Given the description of an element on the screen output the (x, y) to click on. 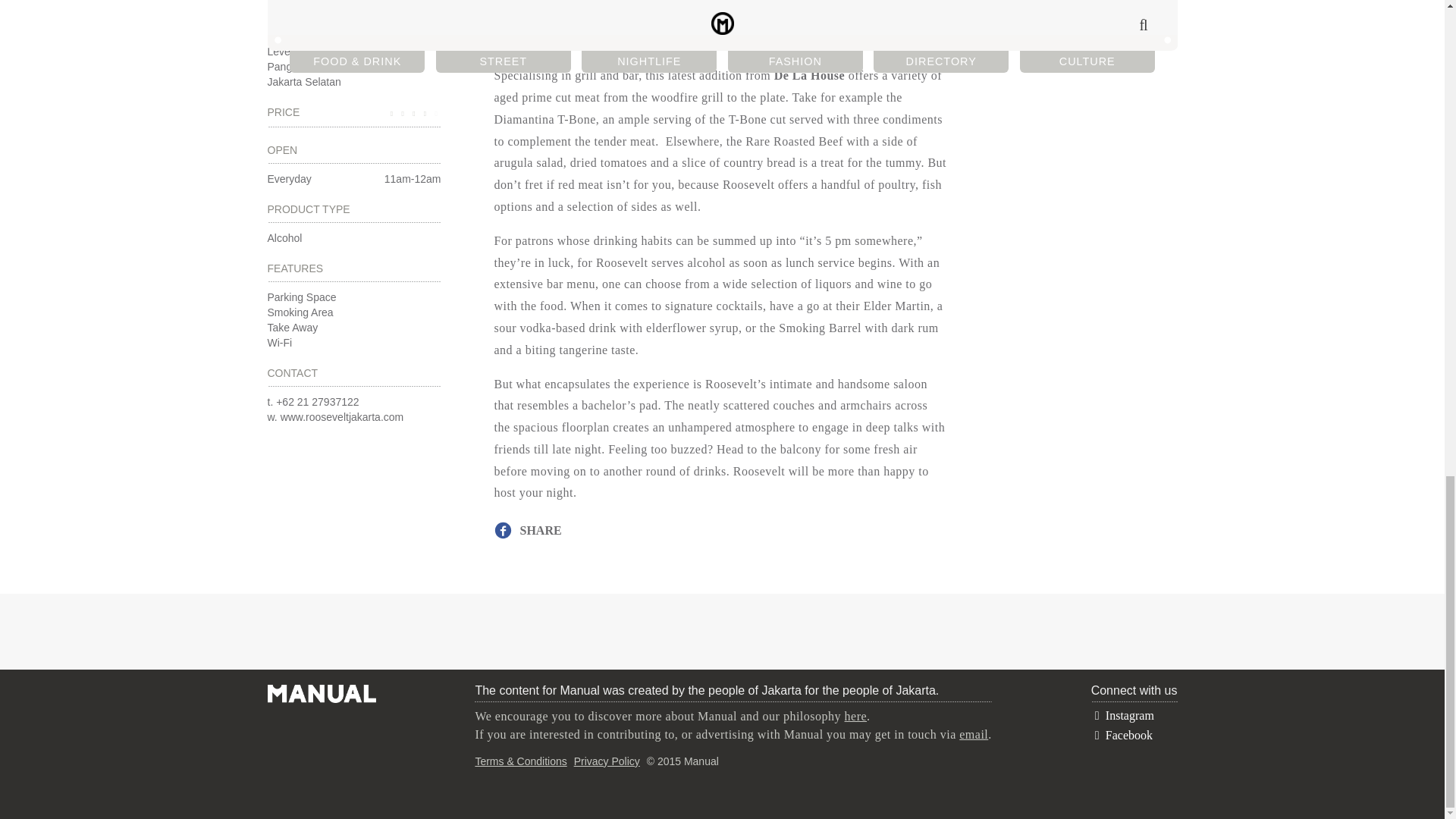
SHARE (531, 530)
Call Roosevelt (317, 401)
www.rooseveltjakarta.com (342, 417)
Email Us (973, 734)
here (855, 716)
Facebook (1121, 735)
Share on Facebook (531, 530)
Wi-Fi (279, 342)
Instagram (1122, 715)
